Given the description of an element on the screen output the (x, y) to click on. 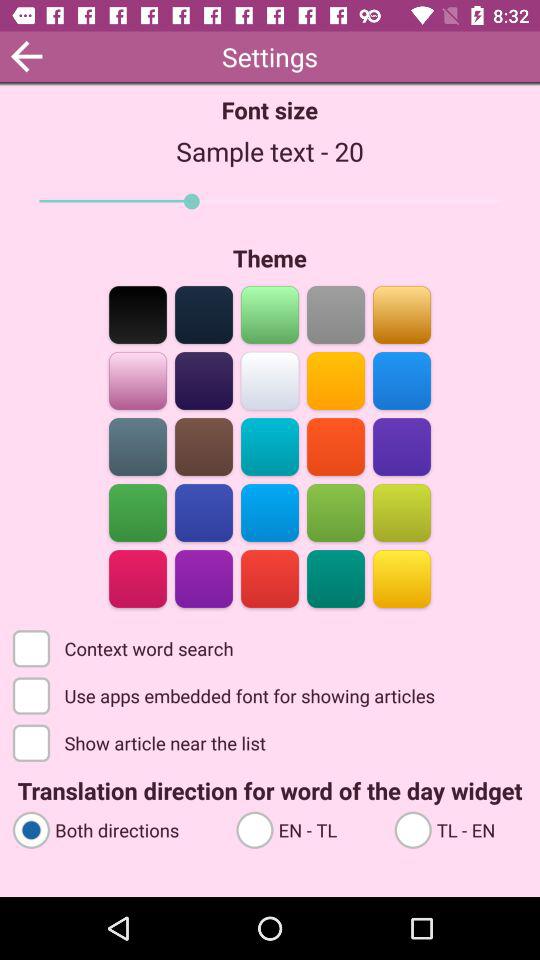
theme choice (203, 445)
